Given the description of an element on the screen output the (x, y) to click on. 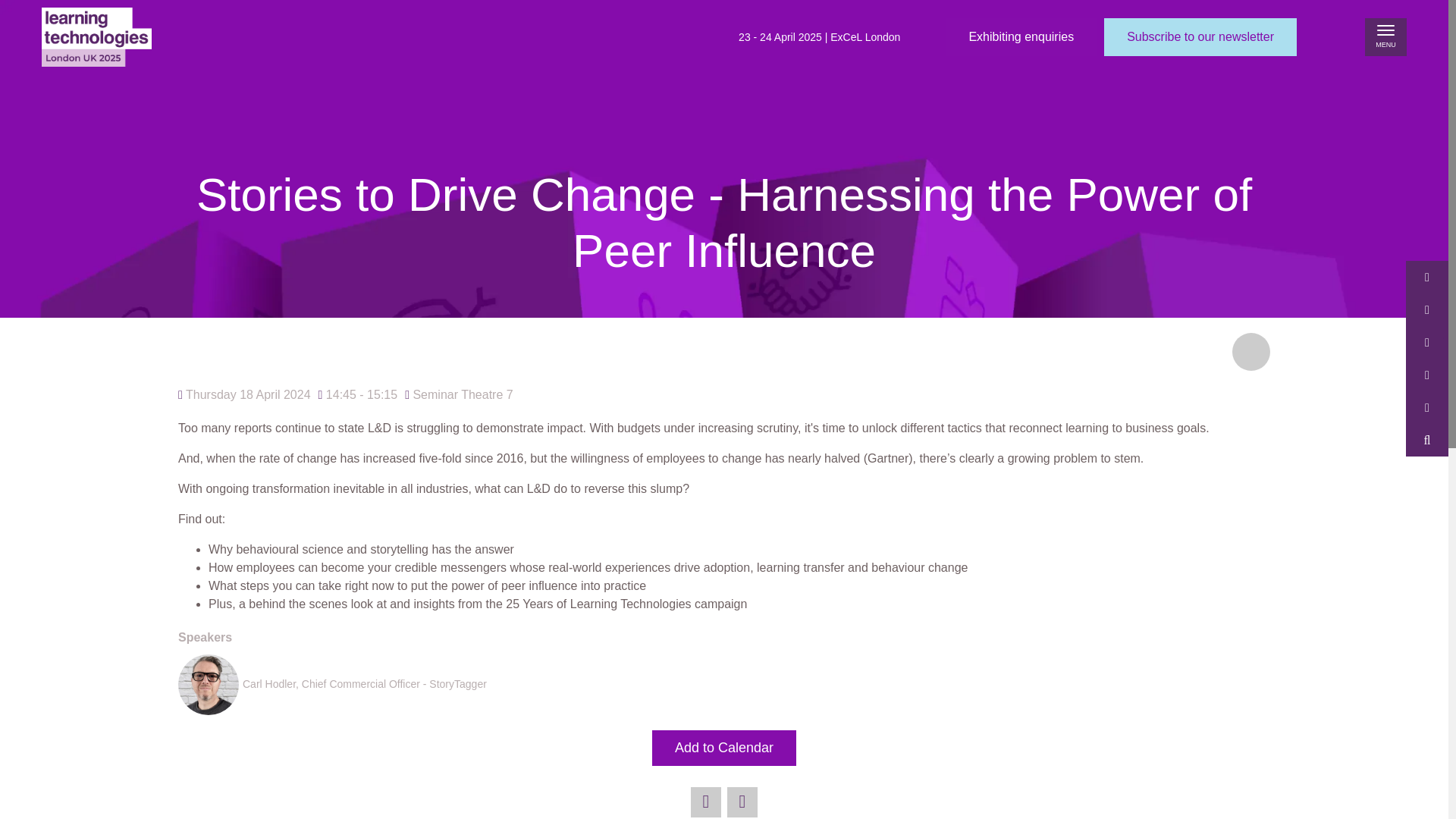
Subscribe to our newsletter (1200, 37)
Exhibiting enquiries (1020, 37)
MENU (1385, 37)
